Given the description of an element on the screen output the (x, y) to click on. 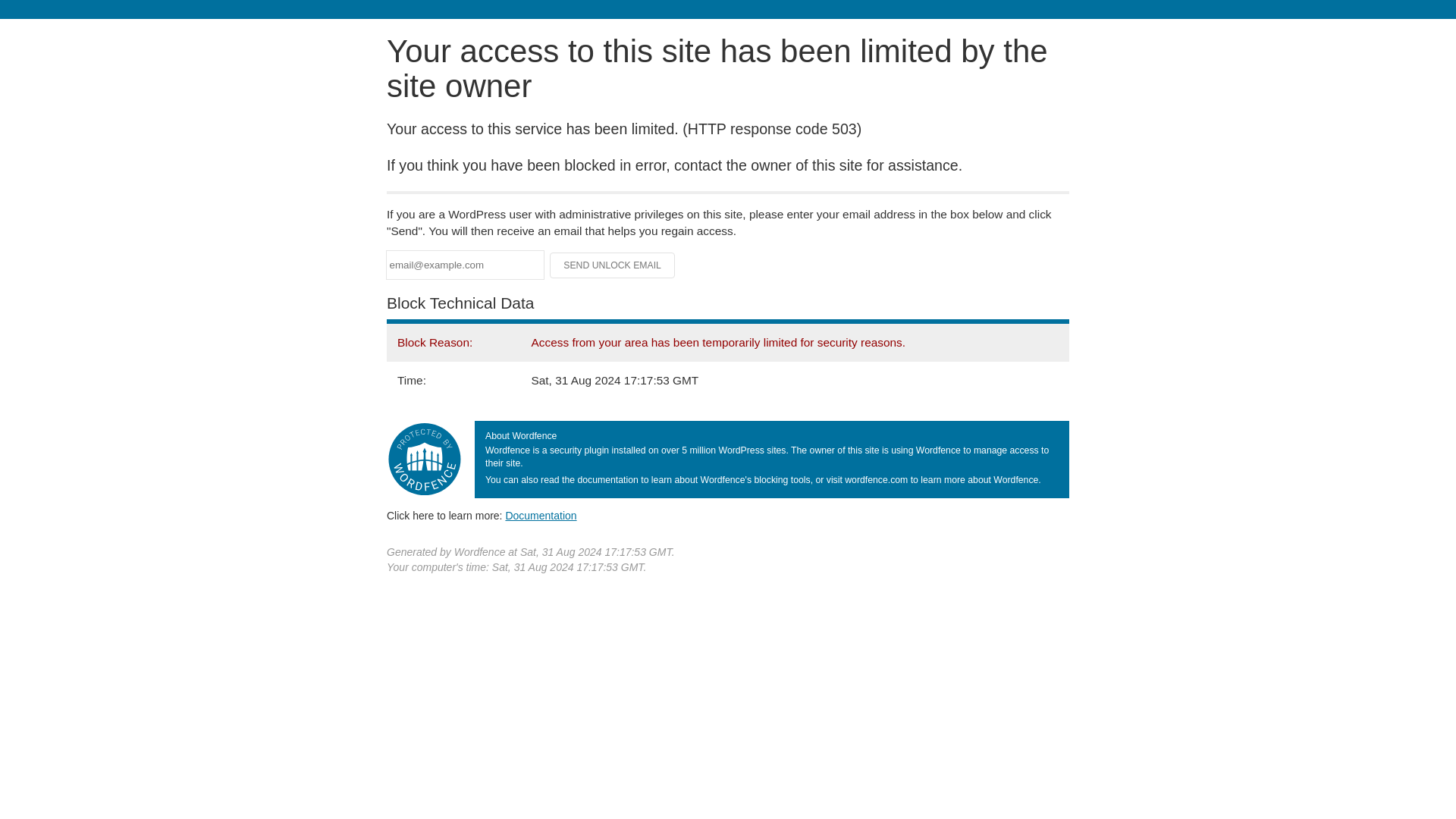
Send Unlock Email (612, 265)
Documentation (540, 515)
Send Unlock Email (612, 265)
